Given the description of an element on the screen output the (x, y) to click on. 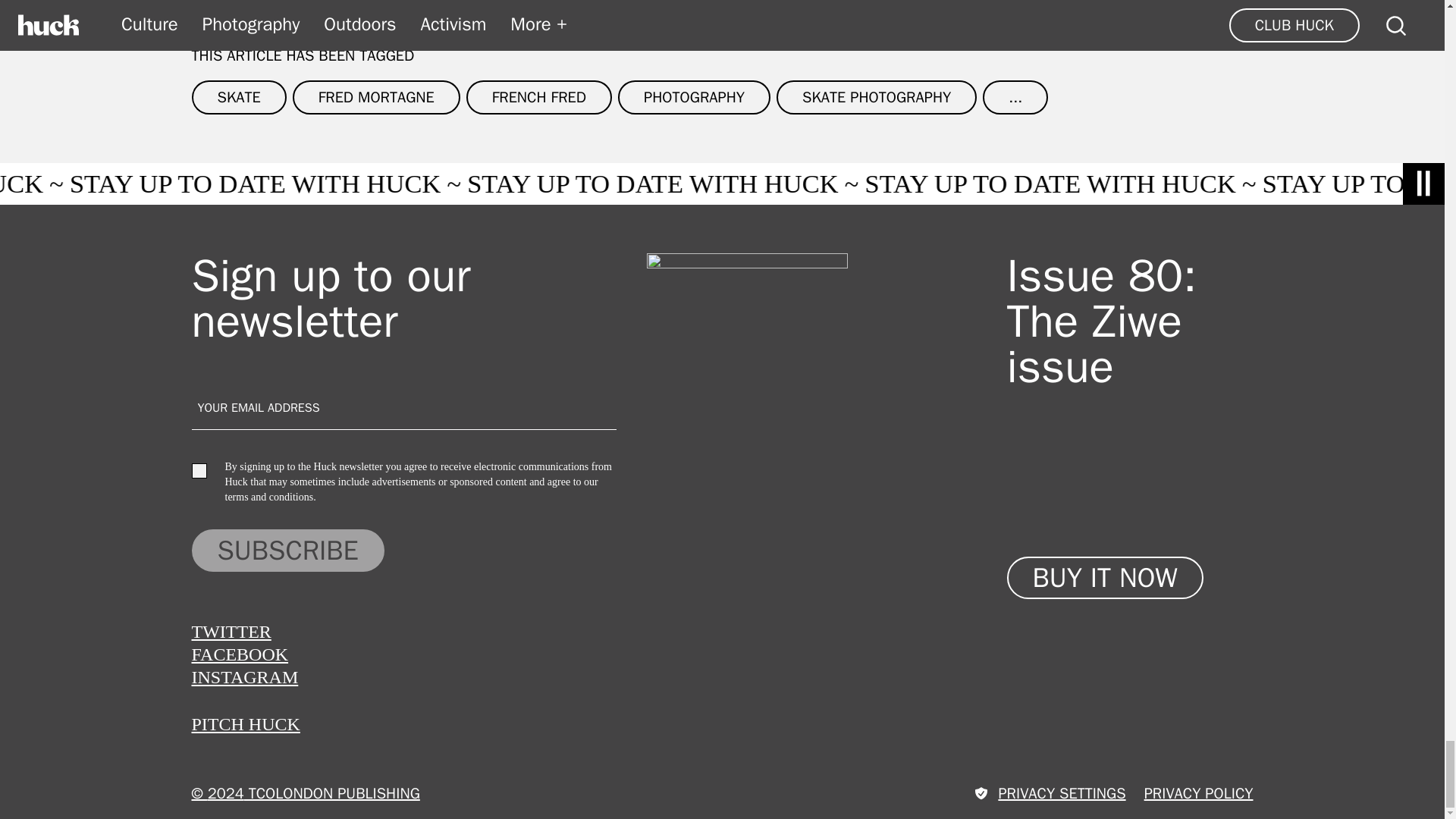
PHOTOGRAPHY (693, 97)
FRED MORTAGNE (376, 97)
FACEBOOK (239, 654)
SKATE PHOTOGRAPHY (876, 97)
... (1015, 97)
BUY IT NOW (1105, 577)
on (198, 470)
PITCH HUCK (244, 723)
SUBSCRIBE (287, 550)
FRENCH FRED (538, 97)
TWITTER (230, 631)
SKATE (237, 97)
INSTAGRAM (244, 677)
